Given the description of an element on the screen output the (x, y) to click on. 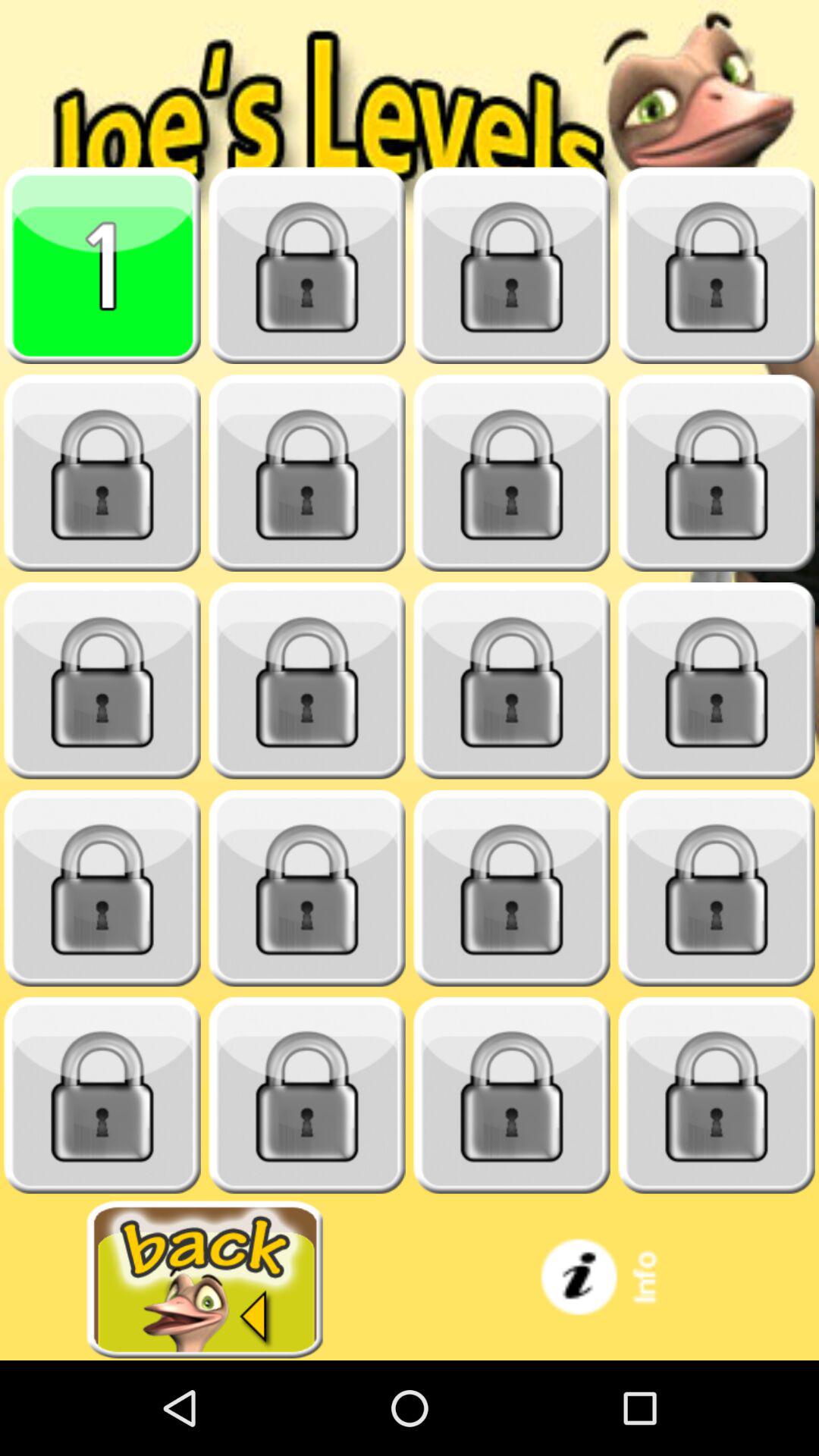
level is locked (511, 265)
